Given the description of an element on the screen output the (x, y) to click on. 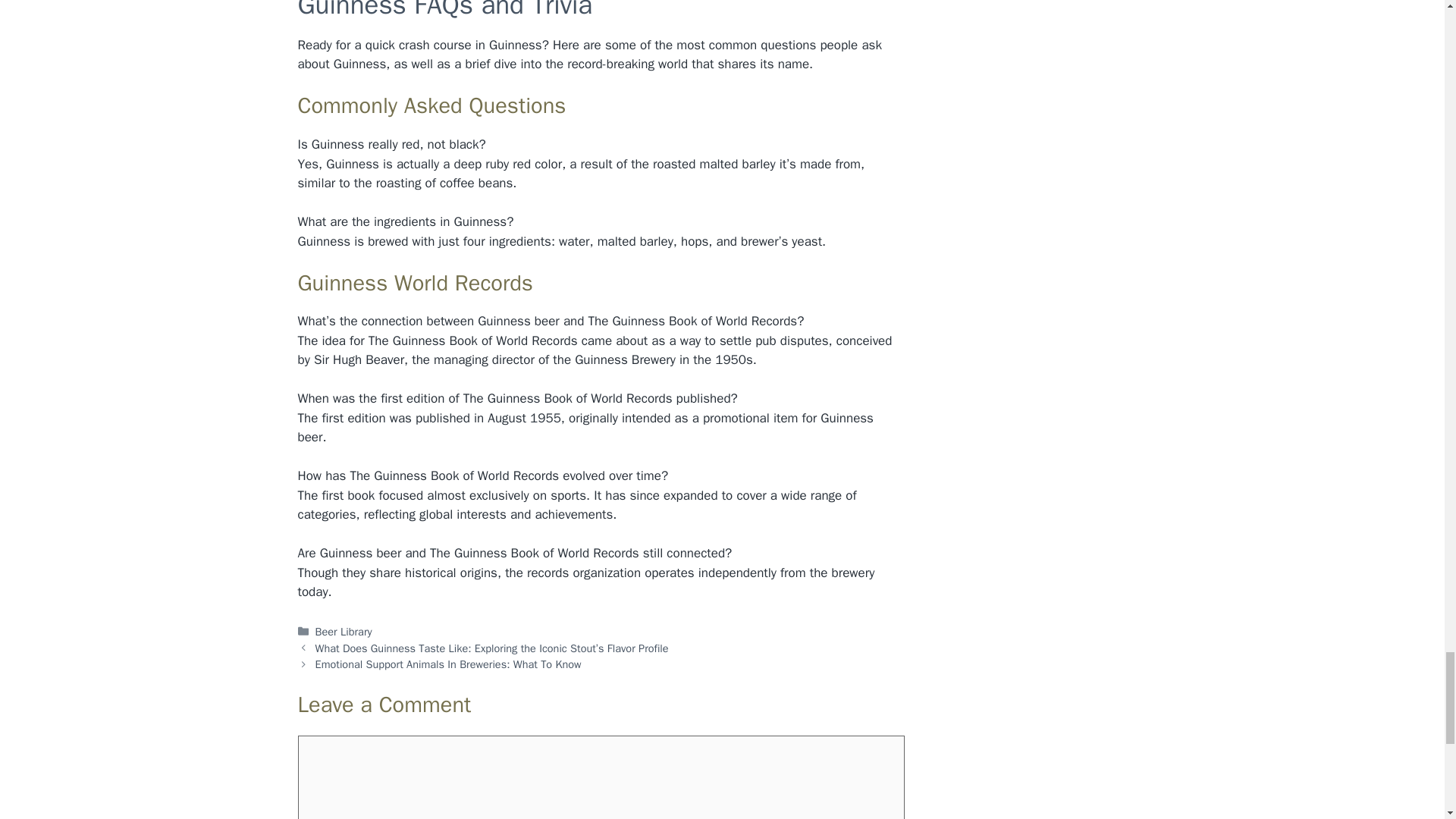
Emotional Support Animals In Breweries: What To Know (447, 663)
Beer Library (343, 631)
